Given the description of an element on the screen output the (x, y) to click on. 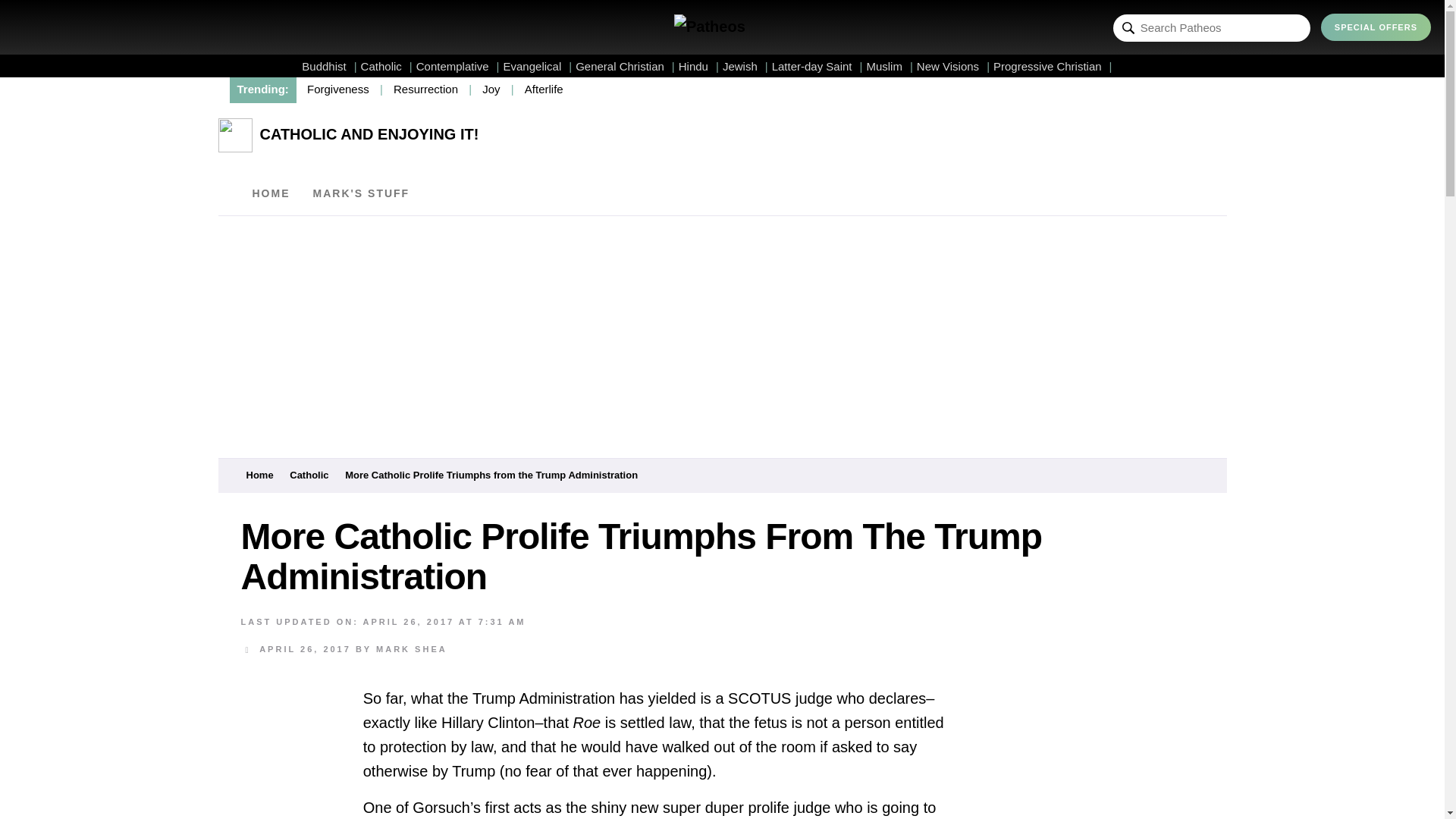
Latter-day Saint (817, 65)
New Visions (953, 65)
General Christian (625, 65)
SPECIAL OFFERS (1375, 26)
Progressive Christian (1052, 65)
Buddhist (328, 65)
Muslim (889, 65)
Jewish (745, 65)
Evangelical (537, 65)
Catholic (386, 65)
Hindu (698, 65)
Contemplative (457, 65)
